Given the description of an element on the screen output the (x, y) to click on. 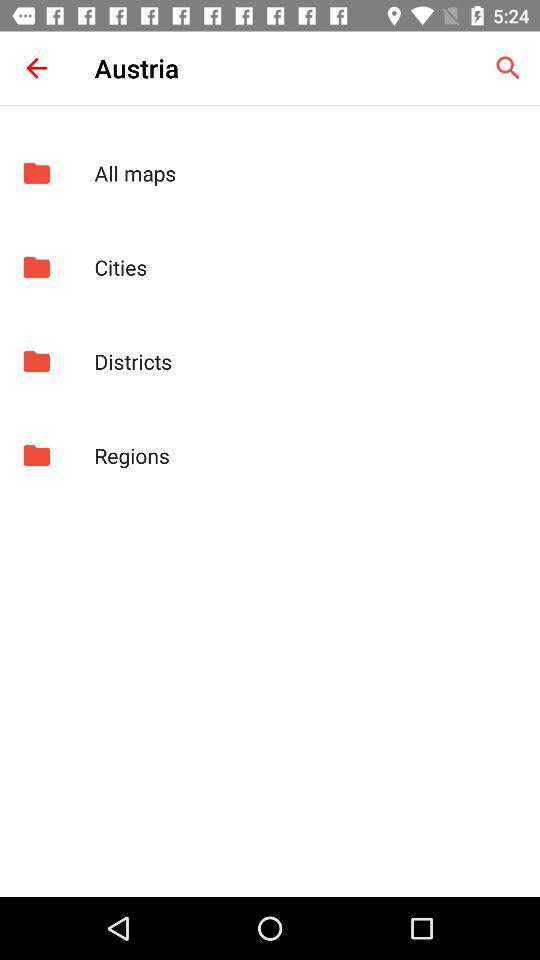
turn off the item next to regions item (36, 455)
